Given the description of an element on the screen output the (x, y) to click on. 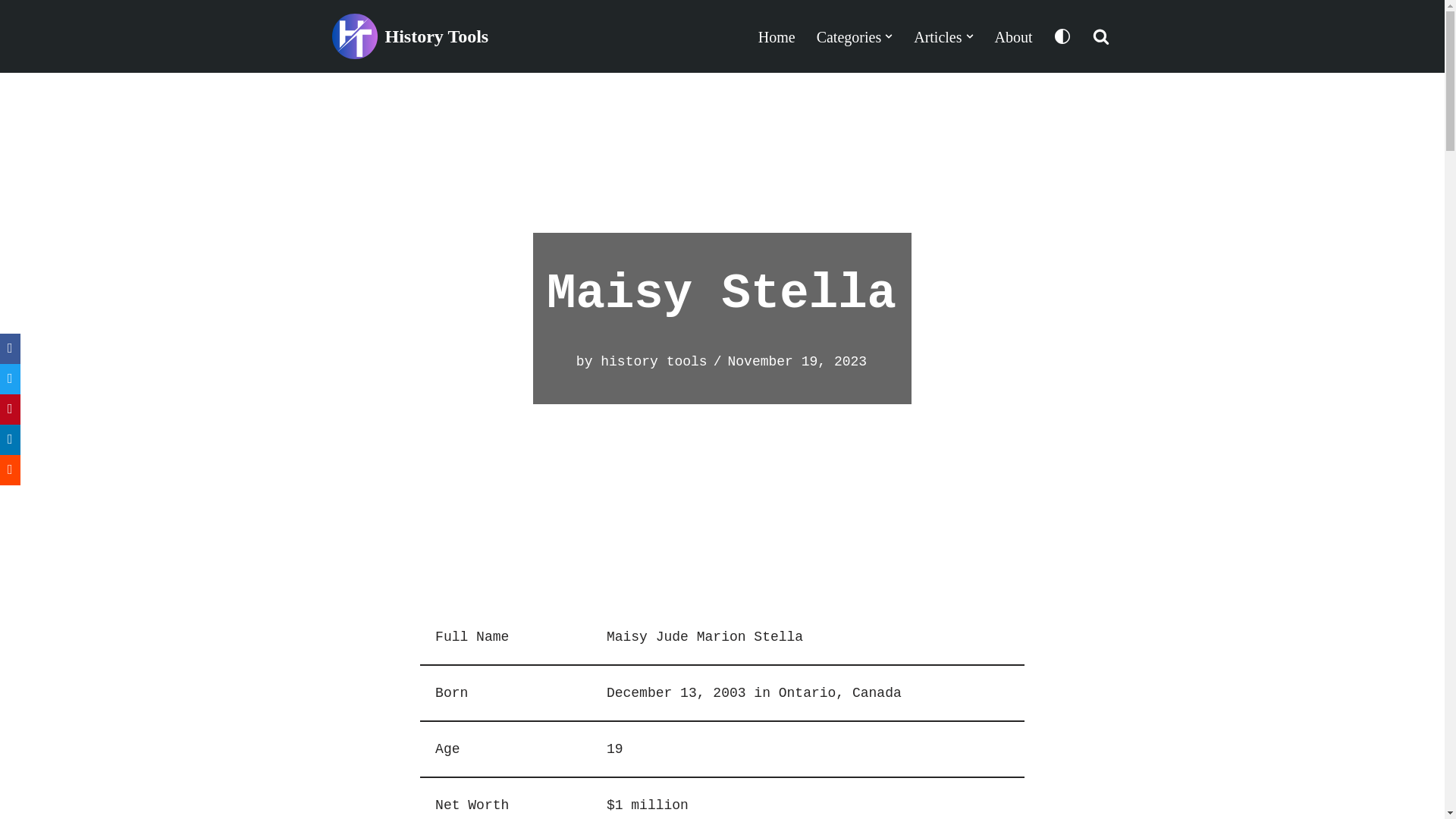
History Tools (410, 35)
Categories (849, 36)
Posts by history tools (652, 361)
About (1013, 36)
Skip to content (11, 31)
Home (776, 36)
Articles (937, 36)
